Given the description of an element on the screen output the (x, y) to click on. 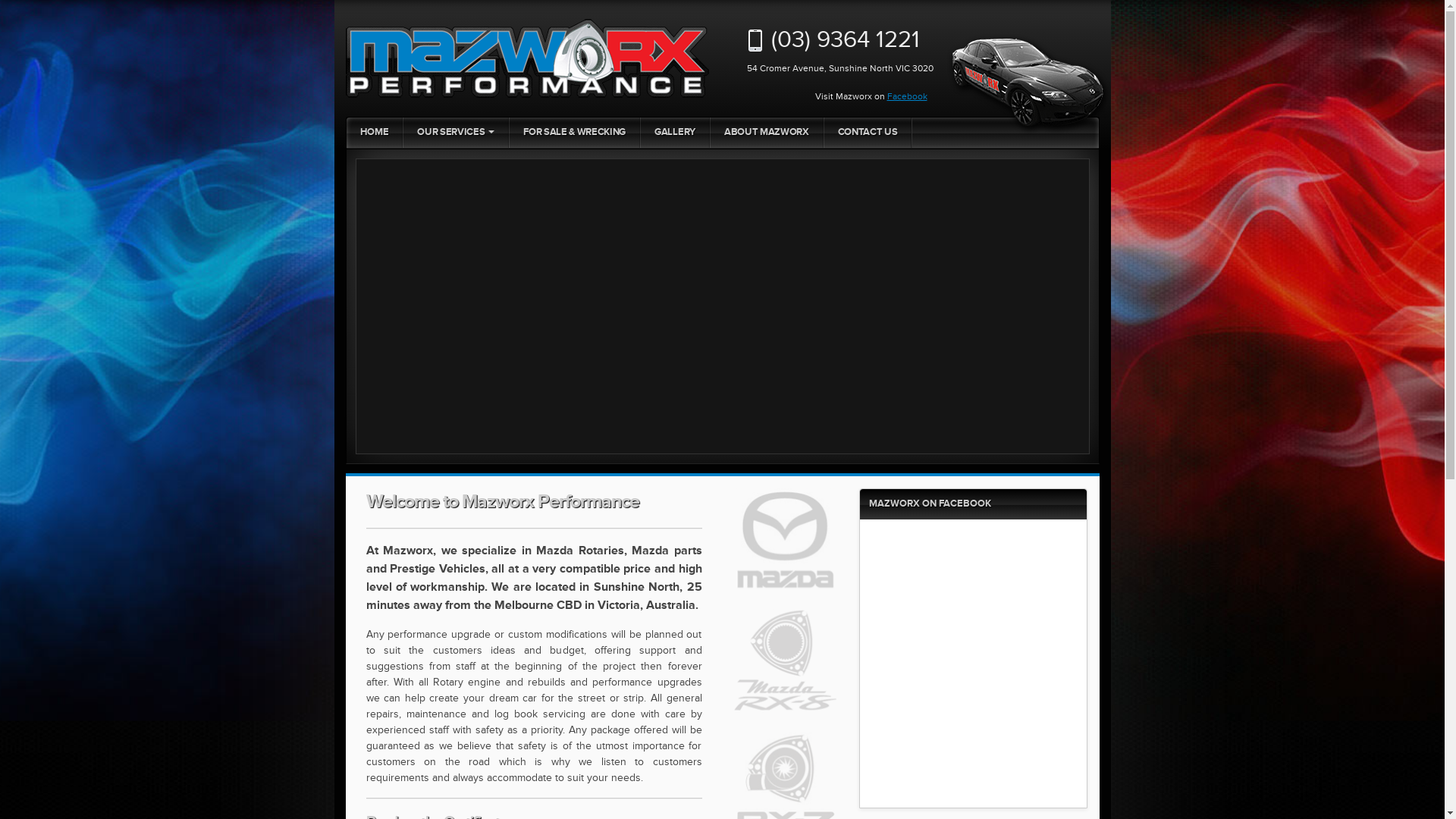
OUR SERVICES Element type: text (455, 132)
GALLERY Element type: text (674, 132)
Facebook Element type: text (907, 96)
FOR SALE & WRECKING Element type: text (574, 132)
CONTACT US Element type: text (867, 132)
HOME Element type: text (373, 132)
ABOUT MAZWORX Element type: text (766, 132)
